Given the description of an element on the screen output the (x, y) to click on. 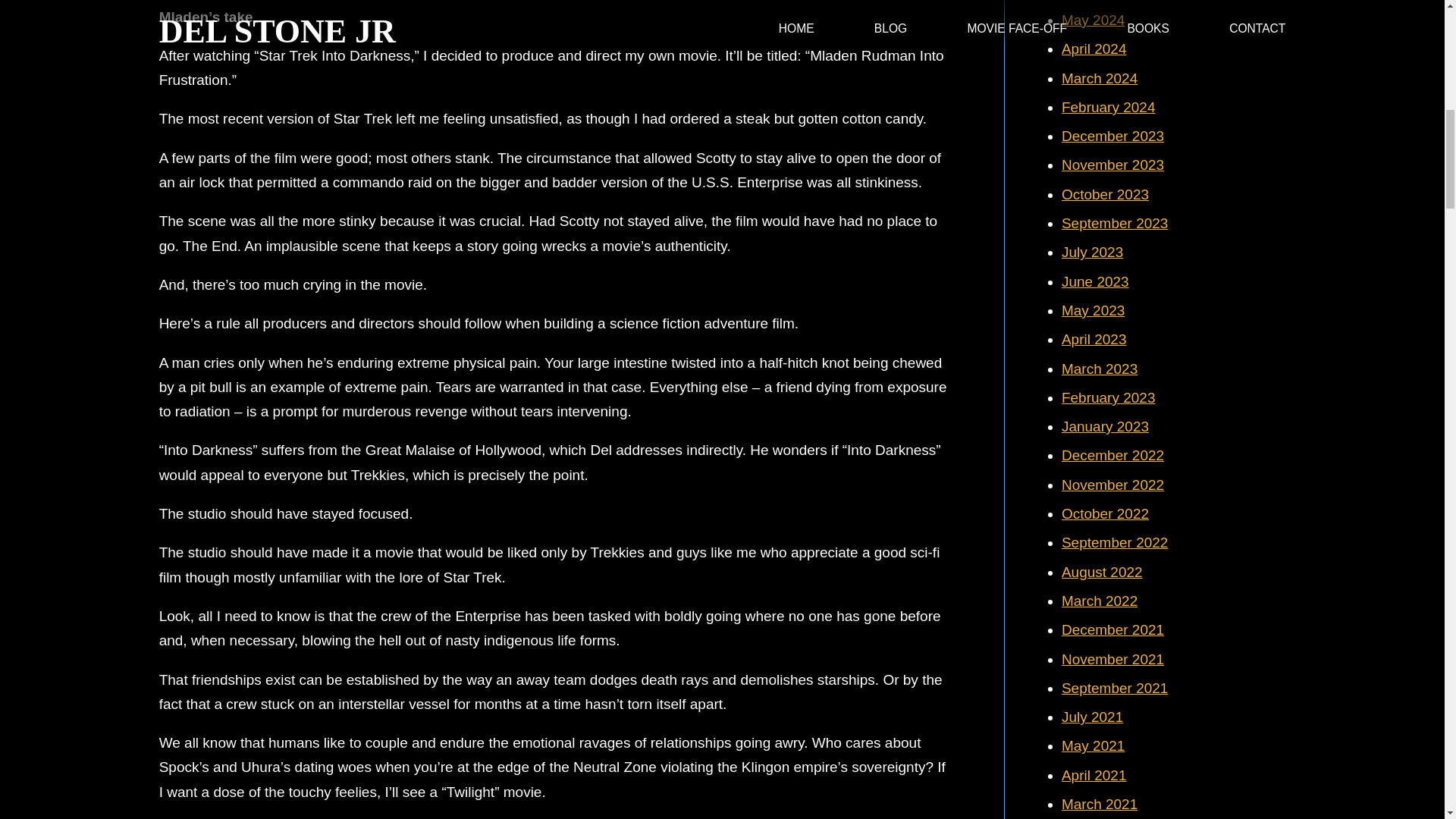
May 2023 (1092, 310)
October 2022 (1104, 513)
April 2024 (1093, 48)
March 2024 (1099, 78)
July 2023 (1091, 252)
October 2023 (1104, 194)
June 2023 (1095, 281)
May 2024 (1092, 19)
April 2023 (1093, 339)
December 2023 (1112, 135)
